Given the description of an element on the screen output the (x, y) to click on. 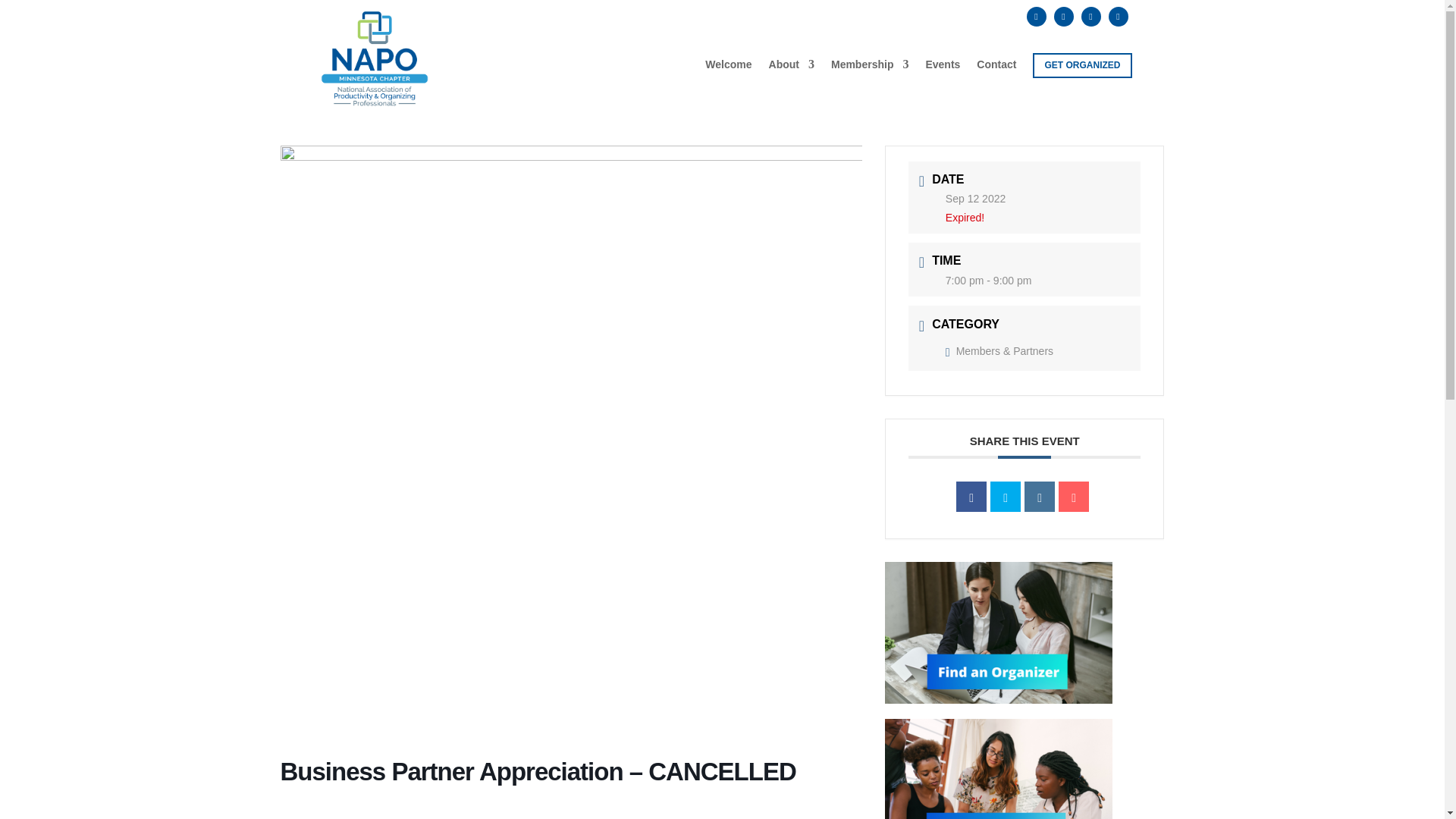
Email (1073, 496)
Welcome (727, 71)
Events (941, 71)
About (790, 71)
Membership (869, 71)
Tweet (1005, 496)
Linkedin (1039, 496)
Share on Facebook (971, 496)
GET ORGANIZED (1081, 65)
Contact (996, 71)
